Given the description of an element on the screen output the (x, y) to click on. 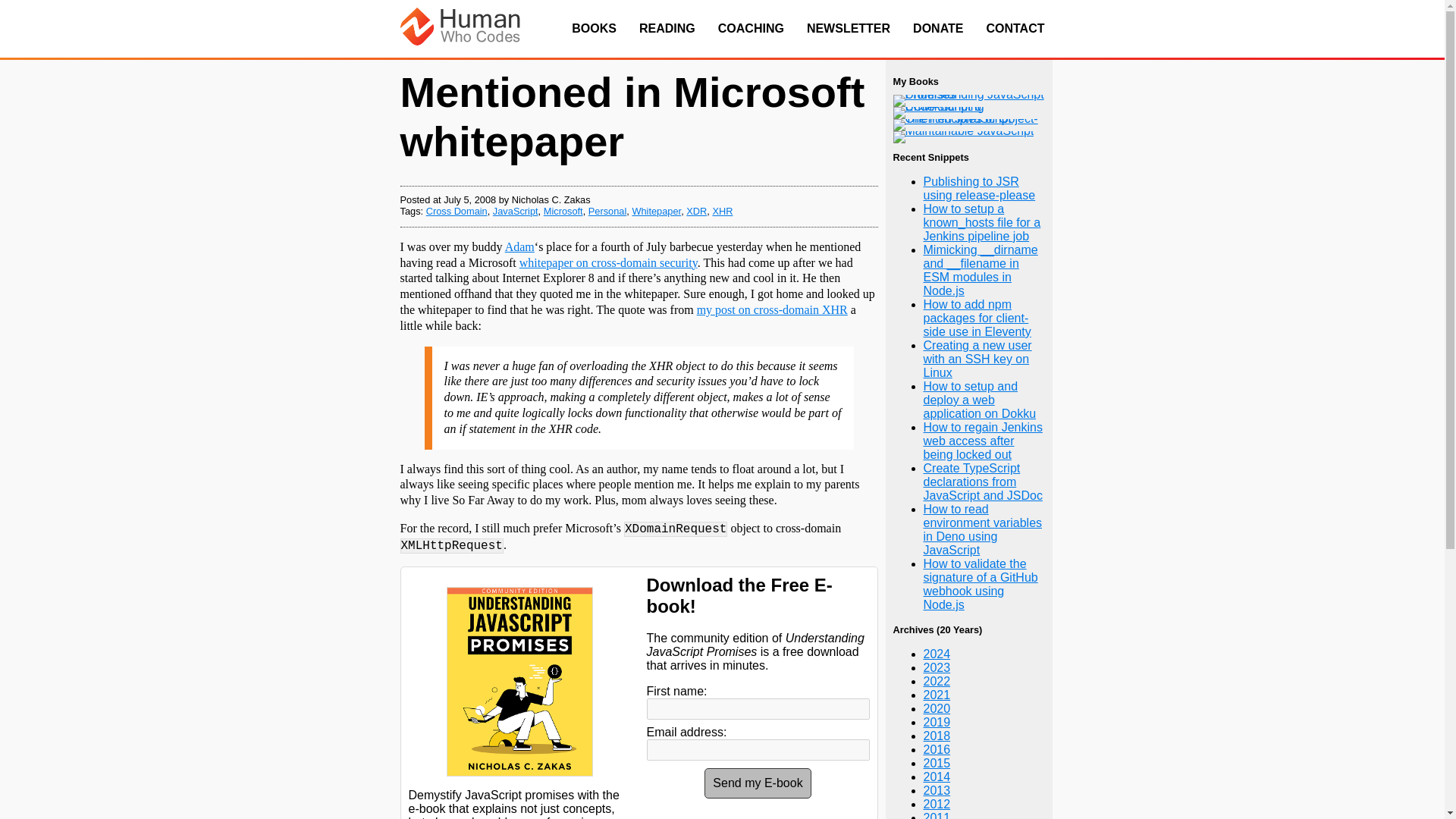
Cross Domain (456, 211)
2022 (936, 680)
2024 (936, 653)
JavaScript (515, 211)
Microsoft (563, 211)
READING (667, 28)
Whitepaper (656, 211)
How to read environment variables in Deno using JavaScript (982, 529)
Send my E-book (757, 783)
whitepaper on cross-domain security (608, 262)
Publishing to JSR using release-please (979, 188)
2023 (936, 667)
DONATE (937, 28)
How to add npm packages for client-side use in Eleventy (976, 318)
